Given the description of an element on the screen output the (x, y) to click on. 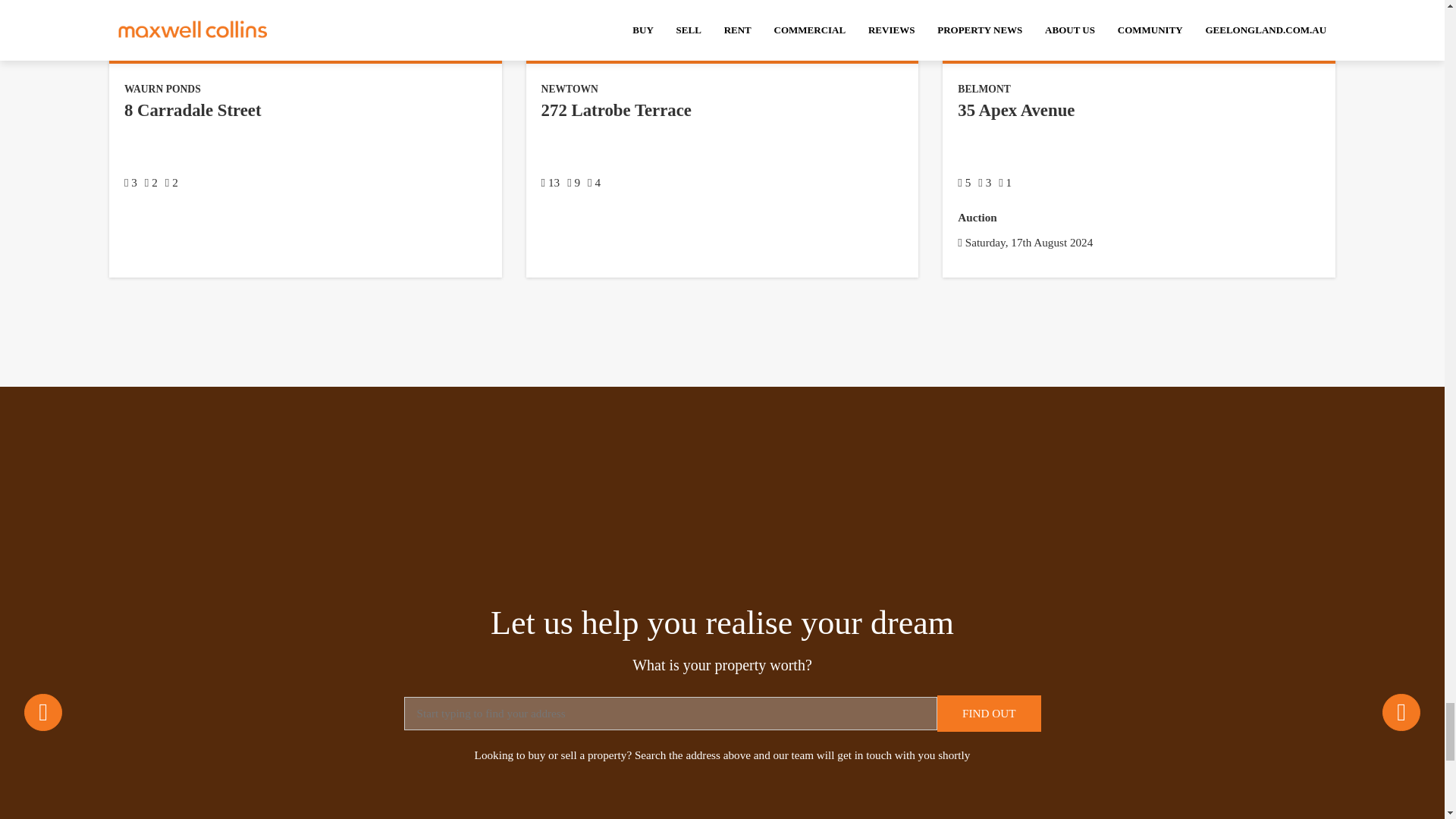
FIND OUT (989, 713)
Superb Family Living (1138, 7)
High Profile Site (721, 7)
A Place to Call Home (305, 7)
